Given the description of an element on the screen output the (x, y) to click on. 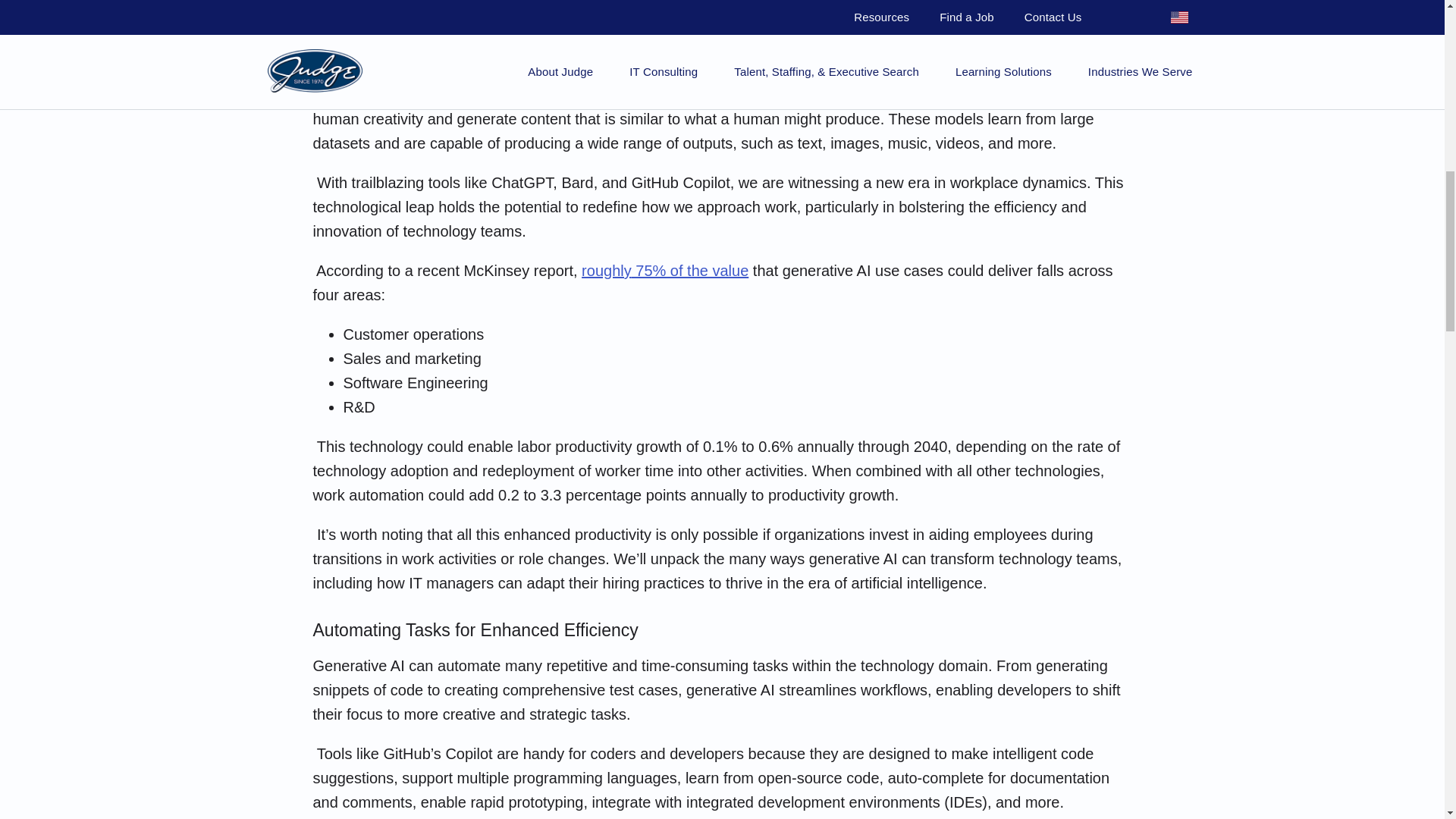
roughly (605, 270)
